Given the description of an element on the screen output the (x, y) to click on. 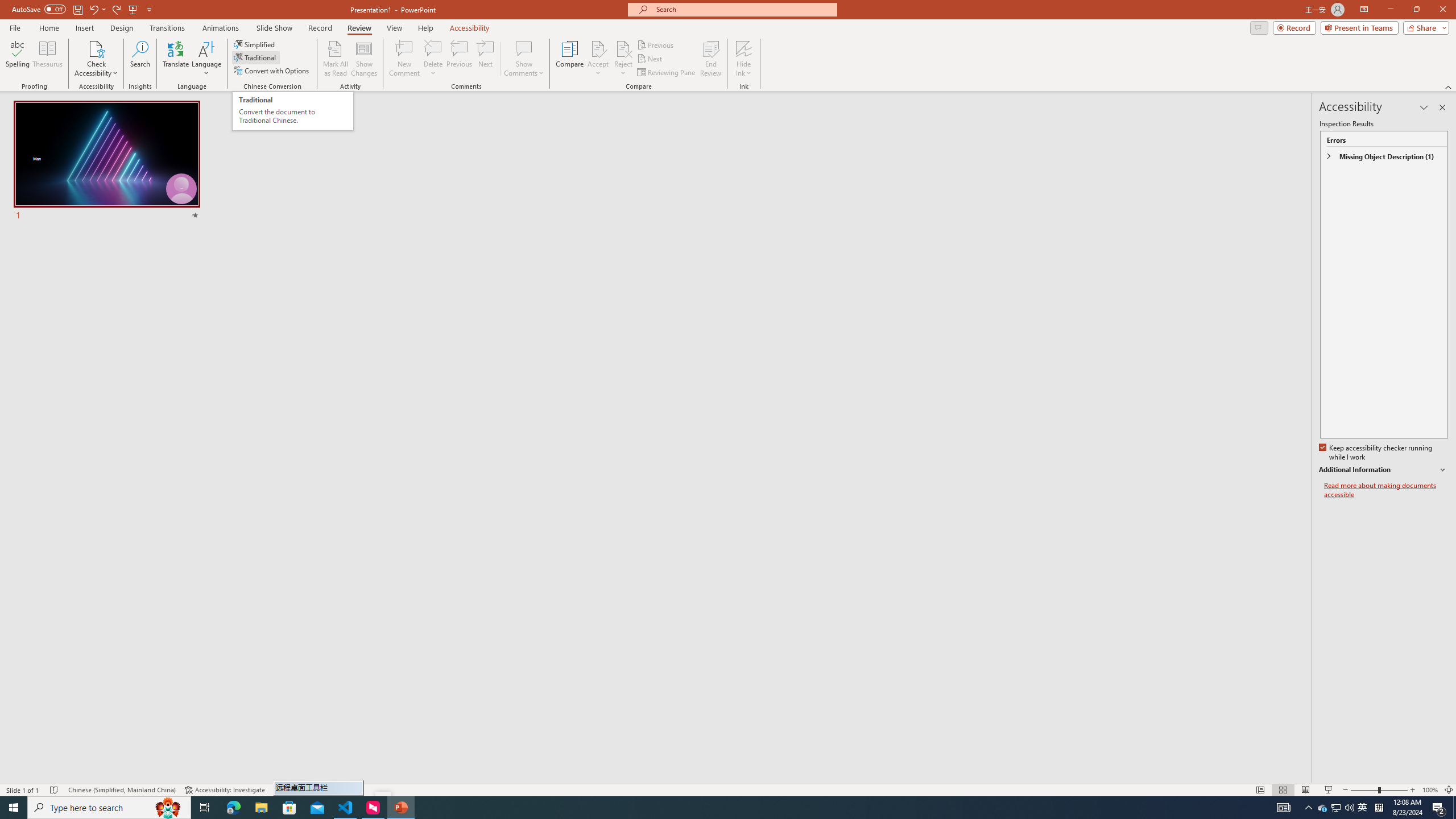
Reviewing Pane (666, 72)
